Given the description of an element on the screen output the (x, y) to click on. 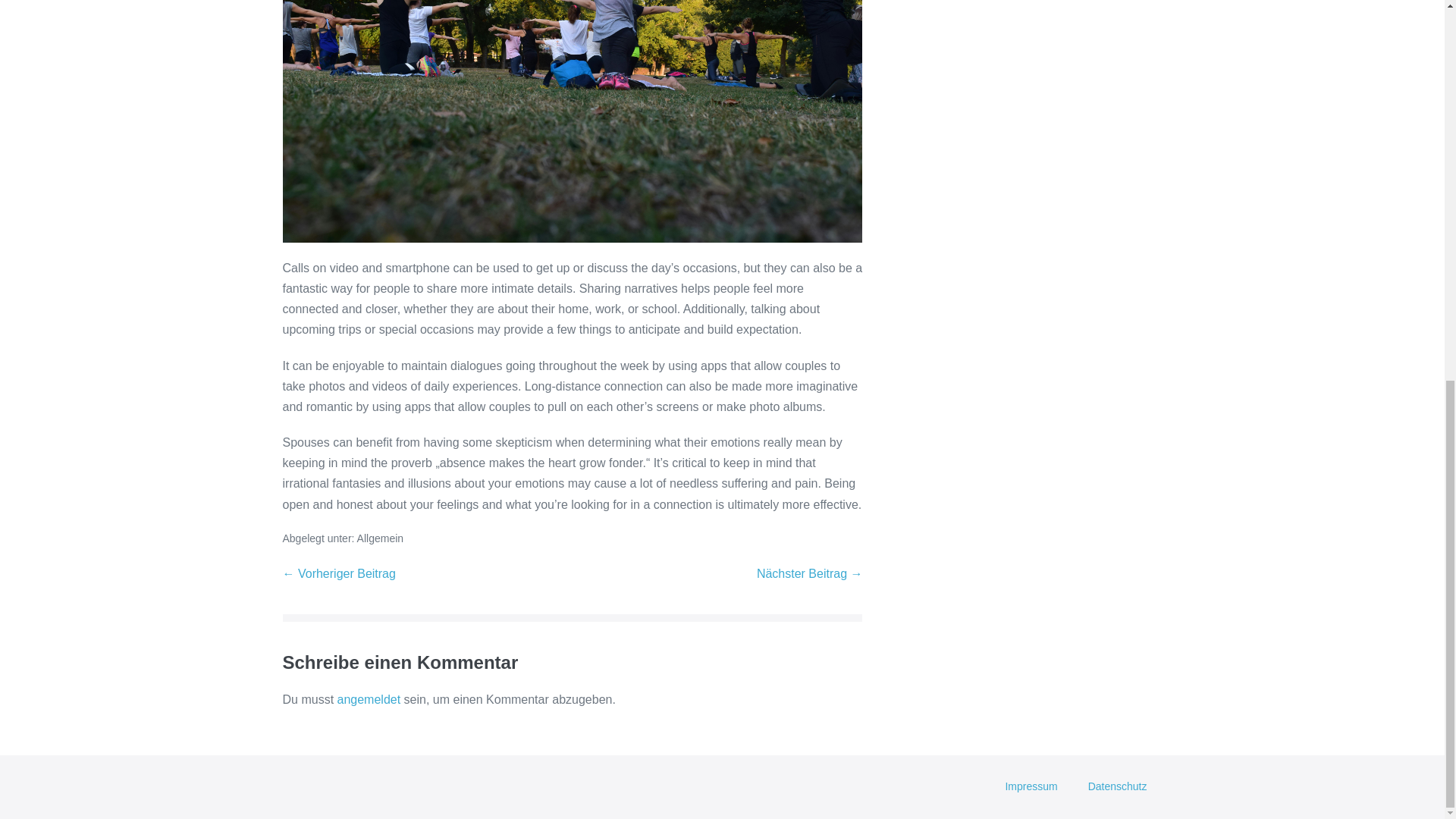
Impressum (1030, 786)
Datenschutz (1117, 786)
angemeldet (369, 698)
